Given the description of an element on the screen output the (x, y) to click on. 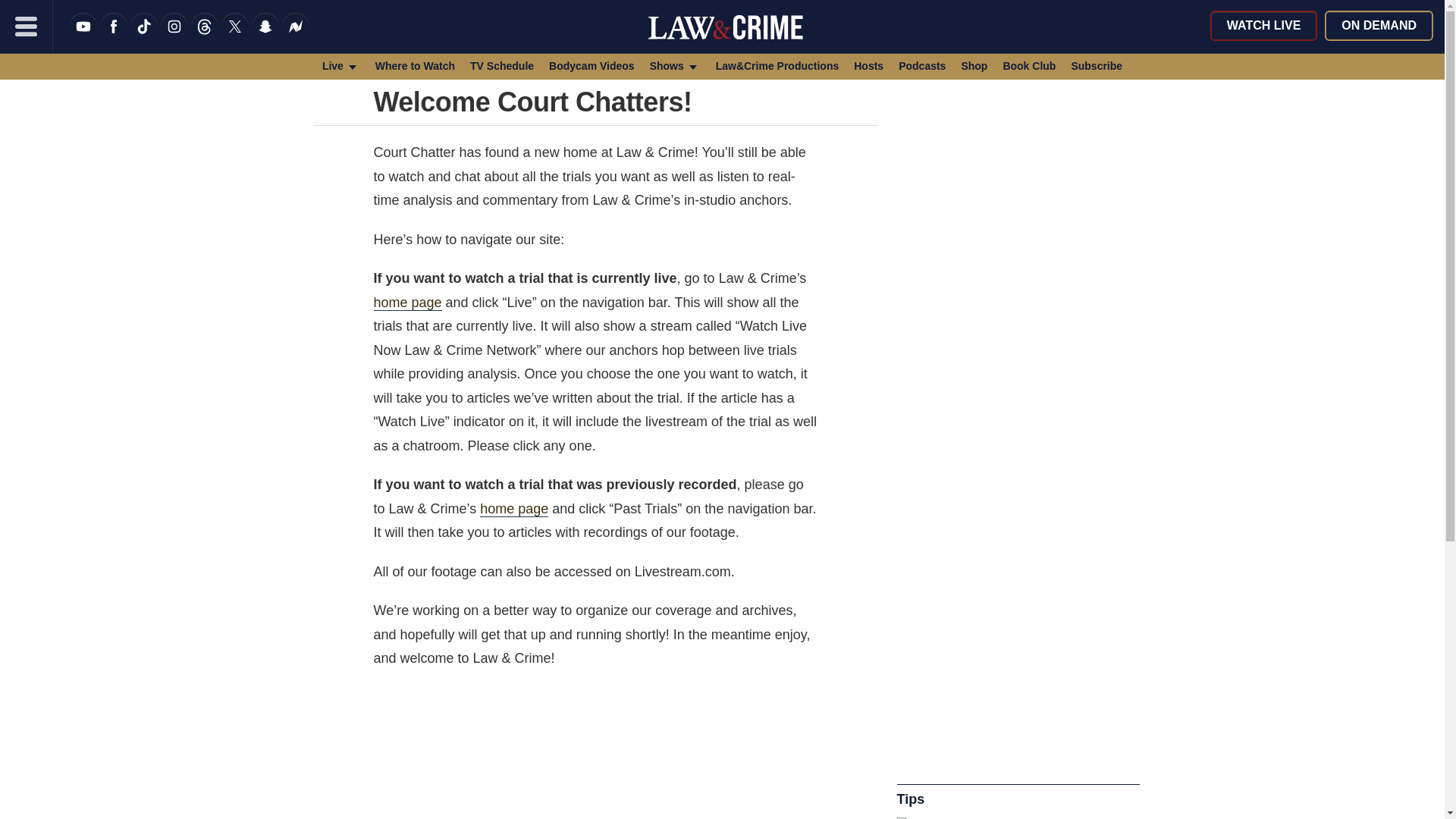
Snapchat (265, 35)
Instagram (173, 35)
YouTube (83, 35)
TikTok (144, 35)
Like us on Facebook (114, 35)
News Break (295, 35)
Threads (204, 35)
